Given the description of an element on the screen output the (x, y) to click on. 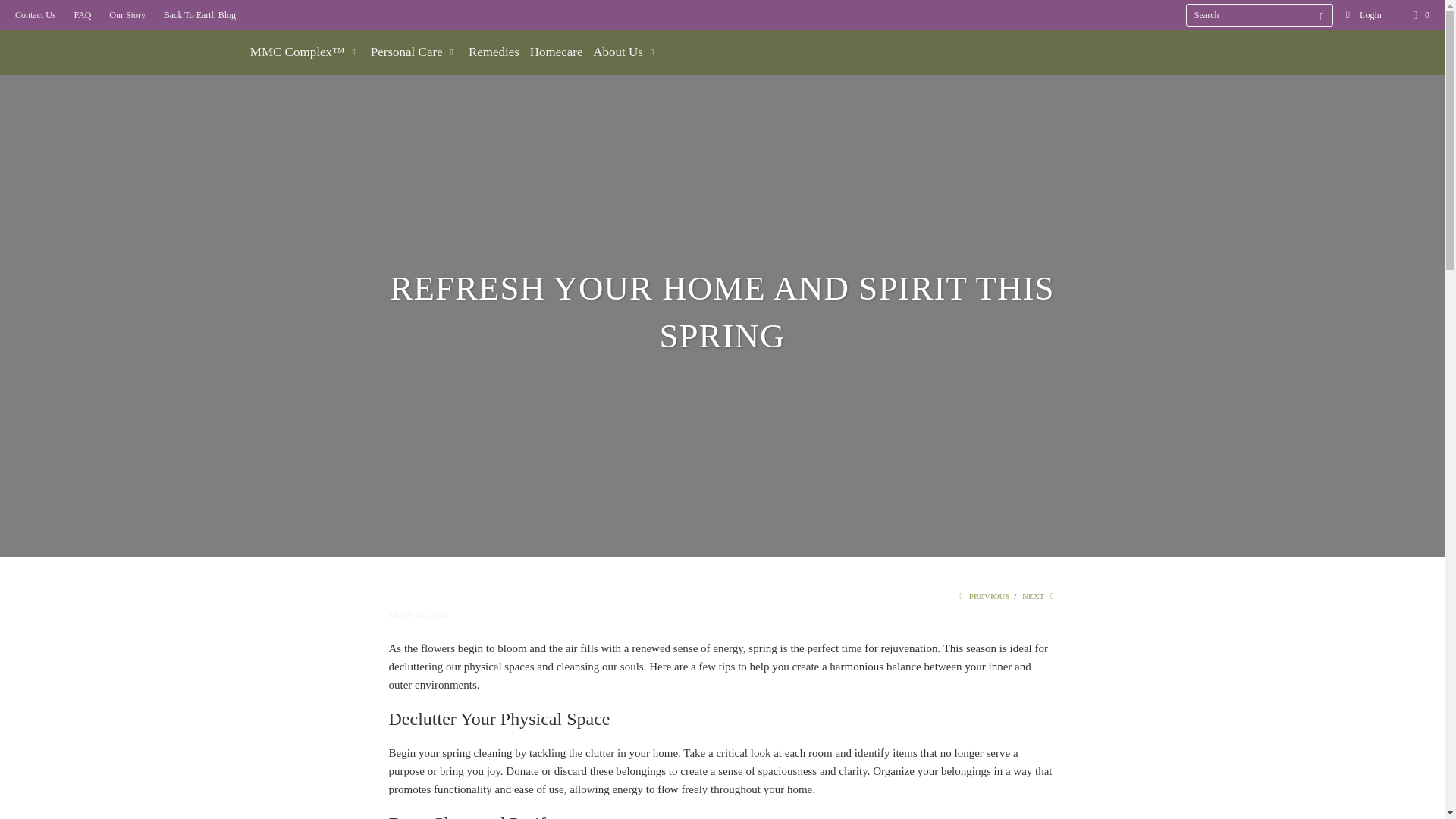
Back To Earth Blog (199, 15)
Personal Care (414, 52)
My Account  (1363, 15)
Our Story (127, 15)
About Us (625, 52)
Contact Us (35, 15)
Login (1363, 15)
Back To Earth (122, 33)
Remedies (493, 52)
Homecare (556, 52)
